Given the description of an element on the screen output the (x, y) to click on. 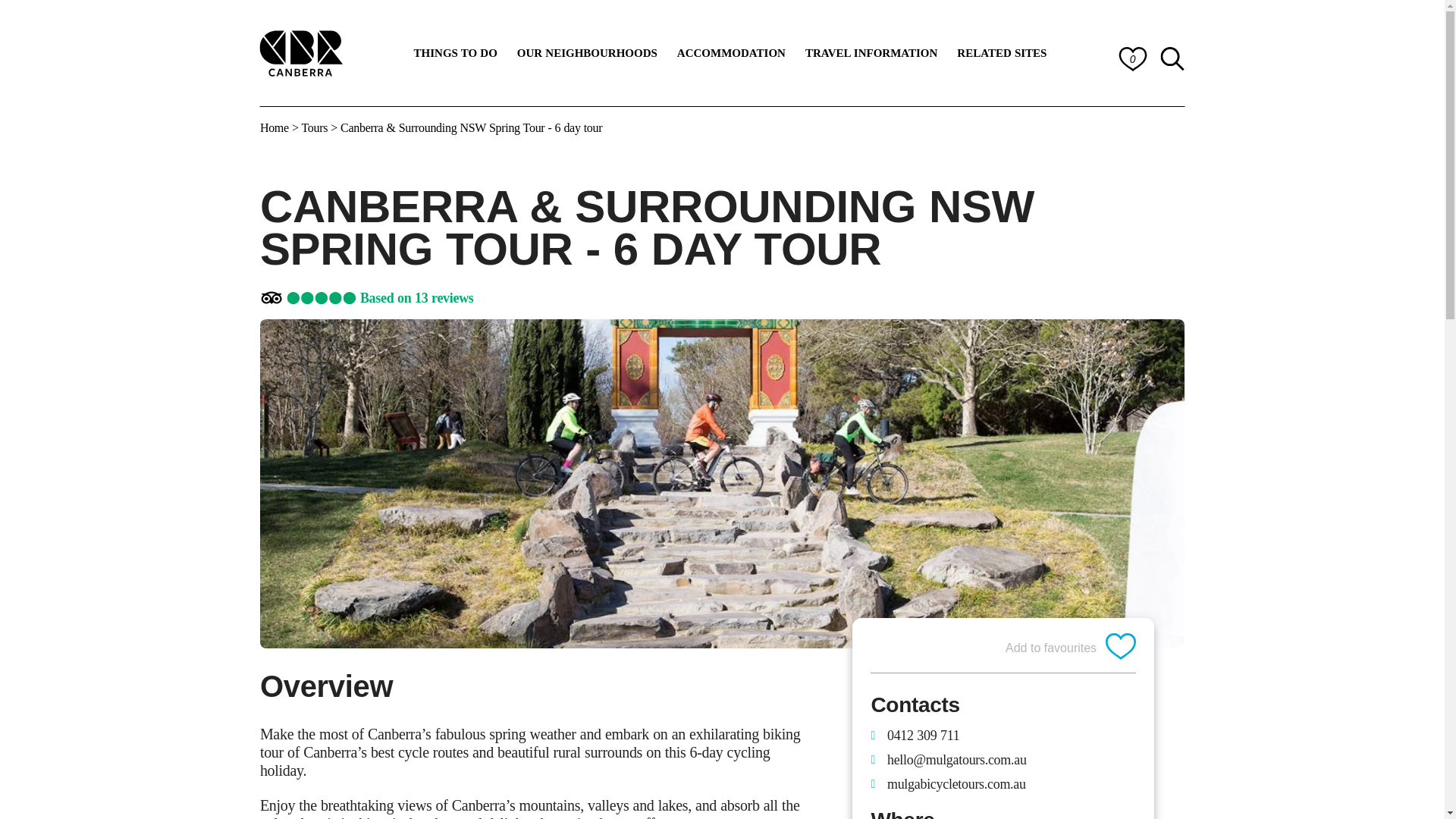
TRAVEL INFORMATION (870, 53)
THINGS TO DO (455, 53)
ACCOMMODATION (730, 53)
0 (1132, 58)
OUR NEIGHBOURHOODS (586, 53)
Home (274, 127)
Based on 13 reviews (416, 298)
Tours (314, 127)
Tours (314, 127)
Home (301, 51)
RELATED SITES (1002, 53)
